Given the description of an element on the screen output the (x, y) to click on. 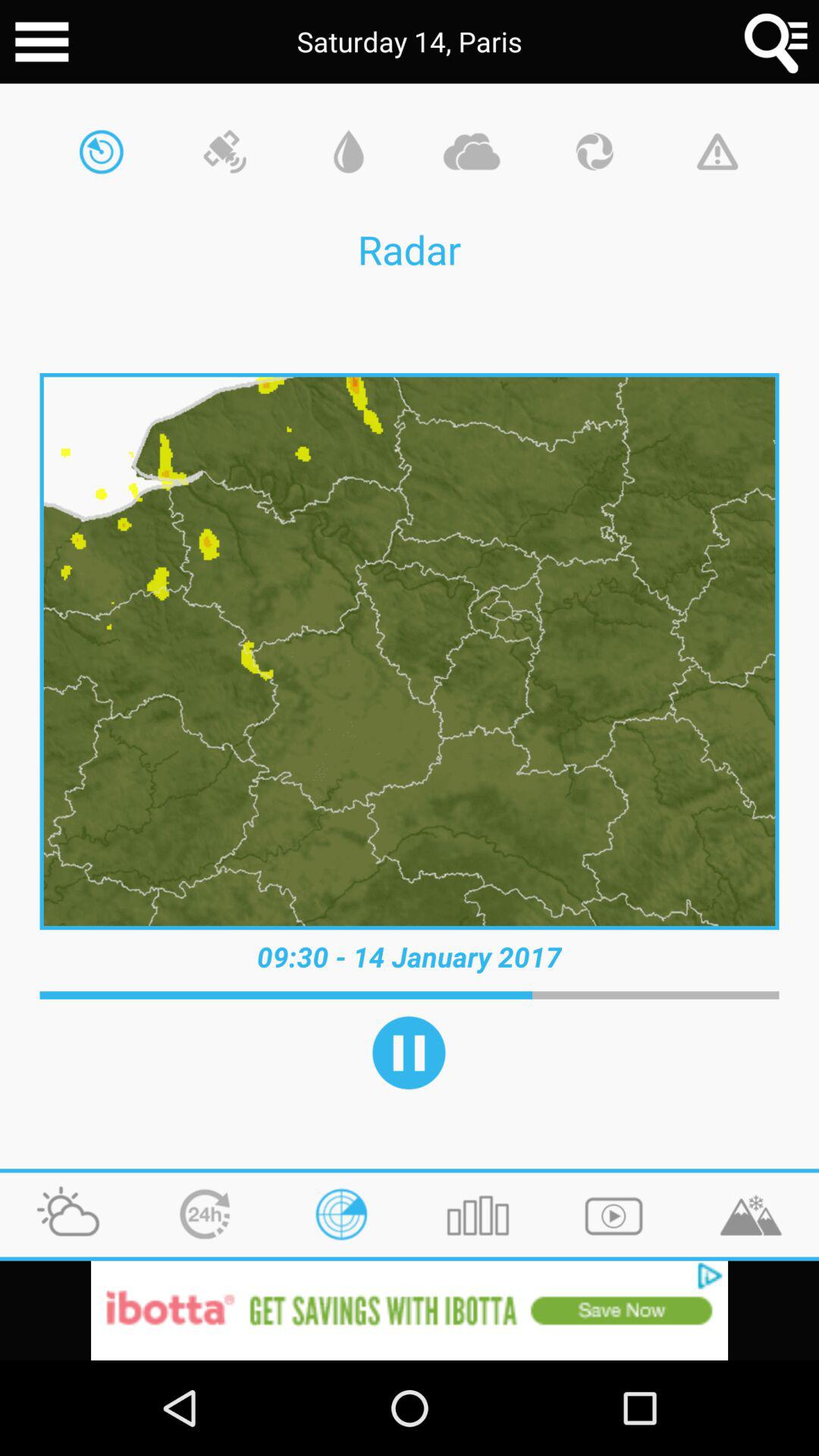
go to menu (41, 41)
